Given the description of an element on the screen output the (x, y) to click on. 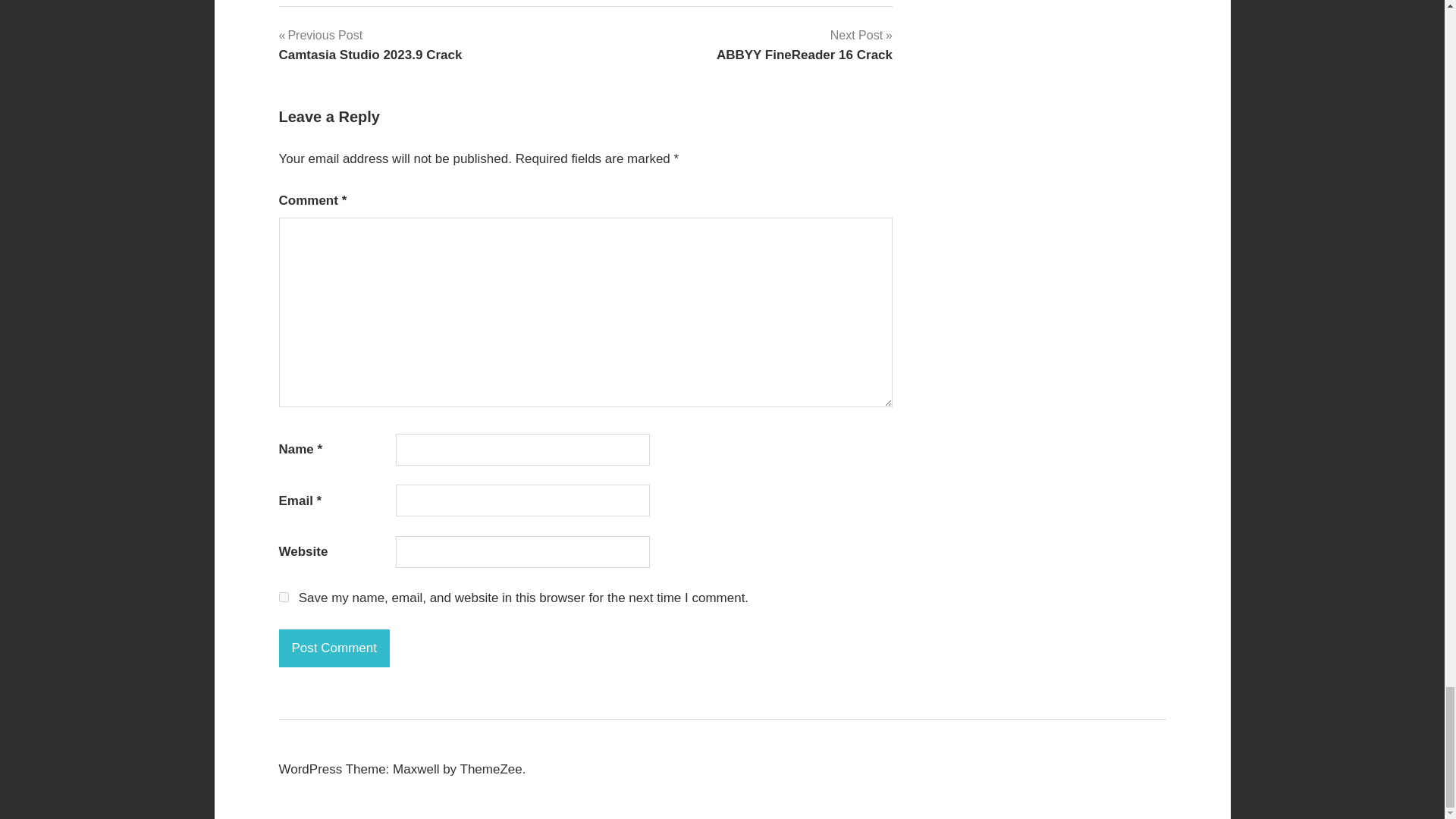
yes (804, 44)
Post Comment (283, 596)
Post Comment (334, 648)
